Given the description of an element on the screen output the (x, y) to click on. 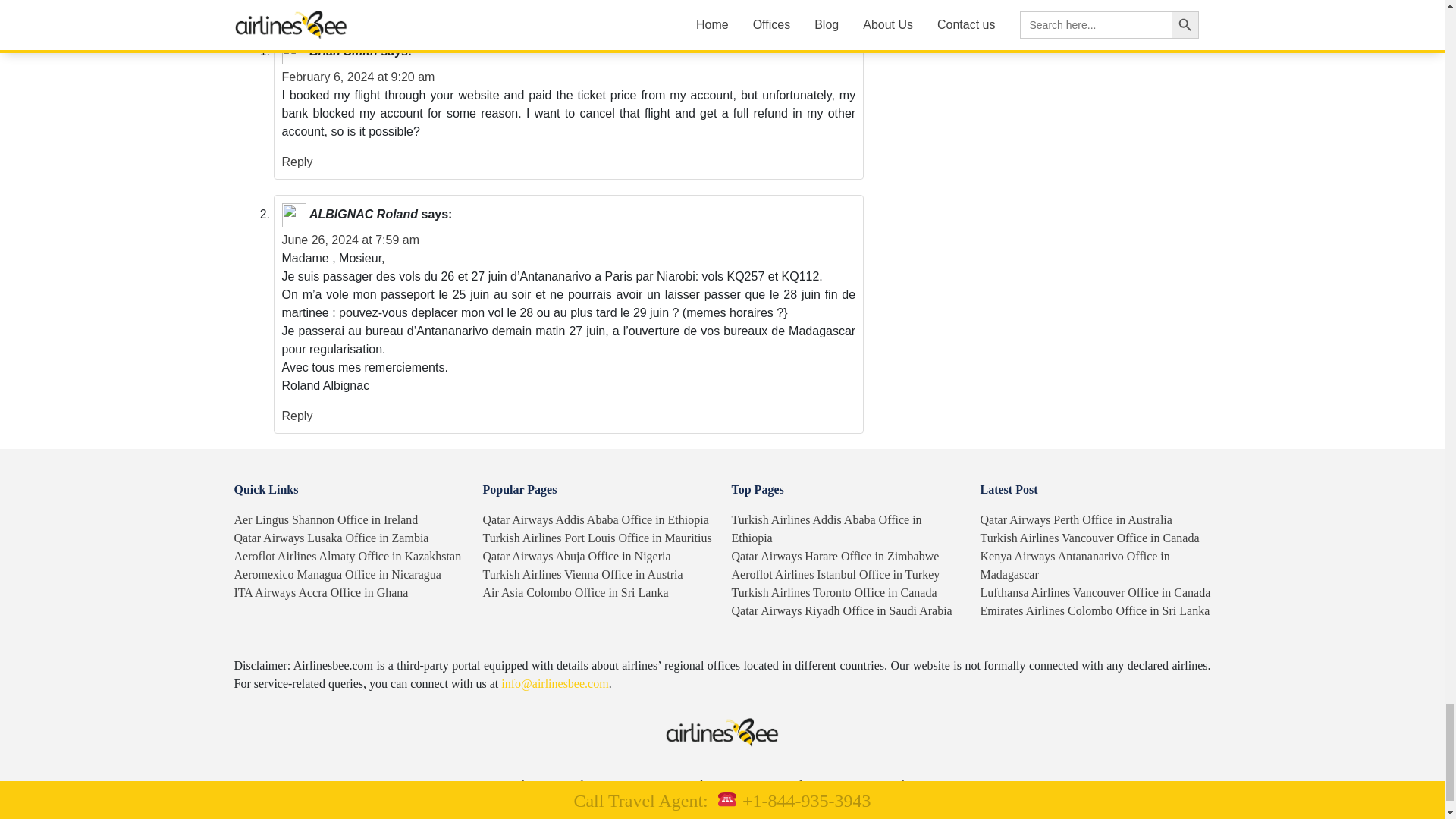
Reply (297, 161)
June 26, 2024 at 7:59 am (350, 239)
February 6, 2024 at 9:20 am (358, 76)
Reply (297, 415)
